Given the description of an element on the screen output the (x, y) to click on. 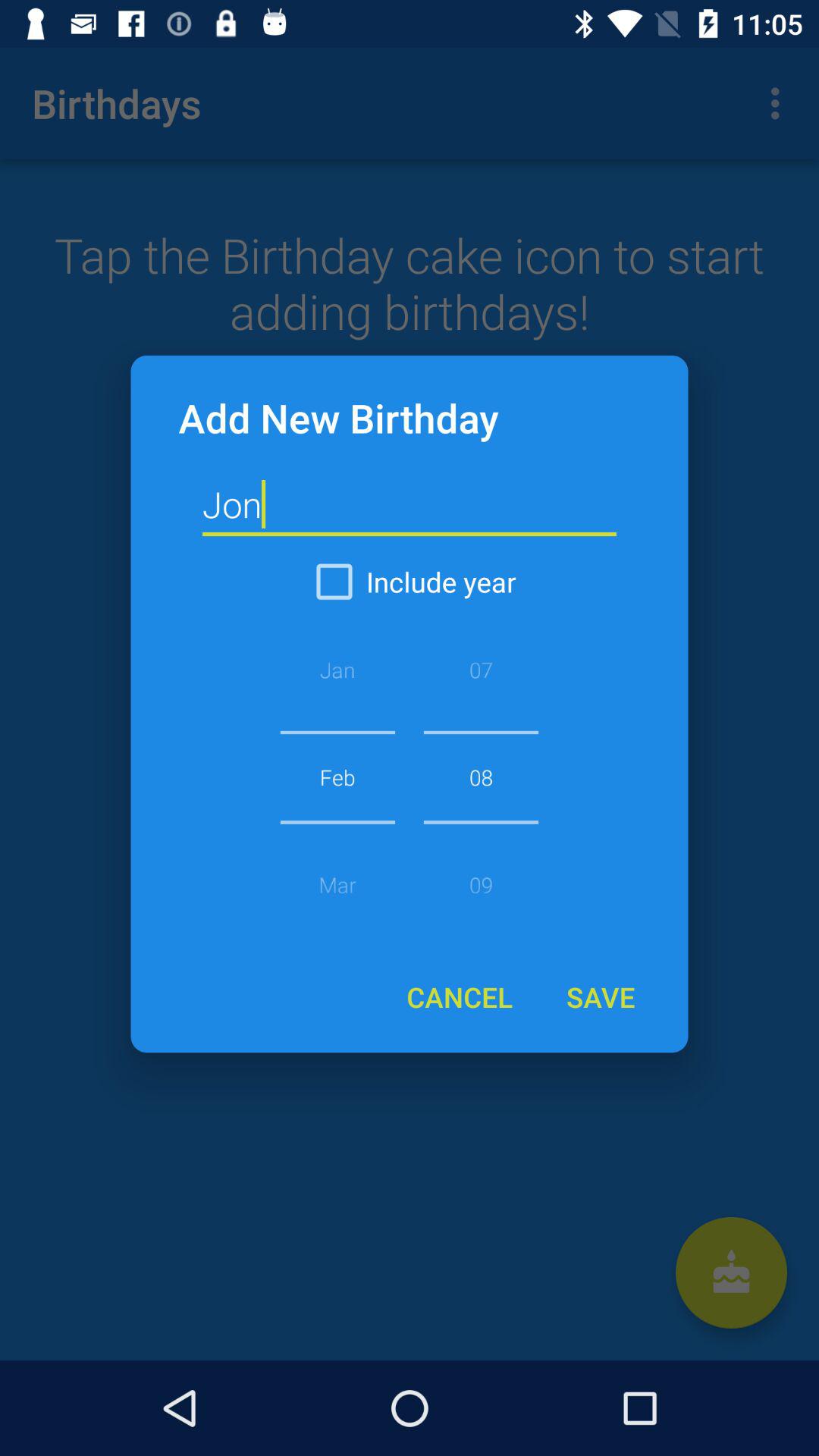
press cancel icon (459, 996)
